Given the description of an element on the screen output the (x, y) to click on. 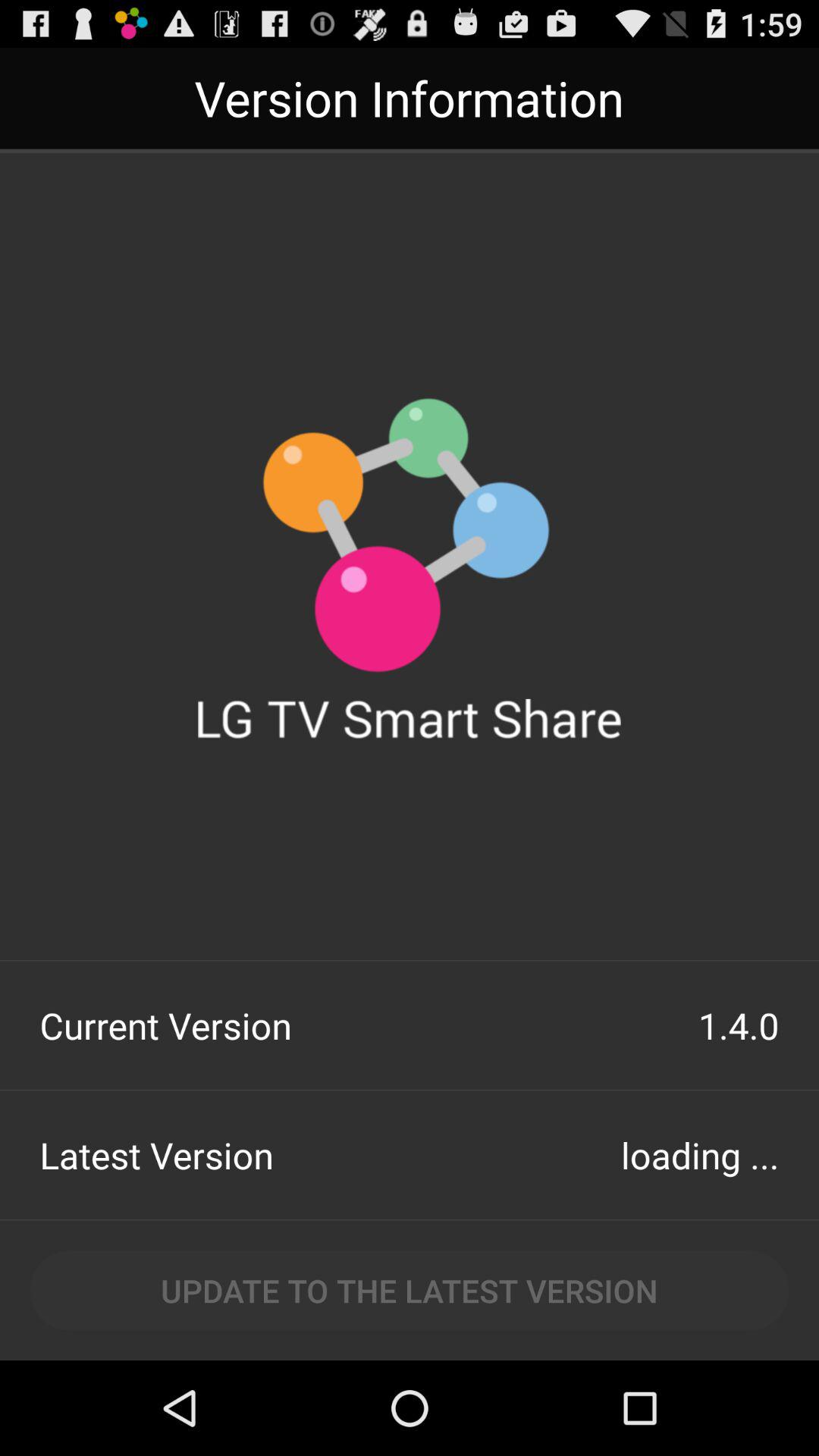
swipe until the update to the (409, 1290)
